Given the description of an element on the screen output the (x, y) to click on. 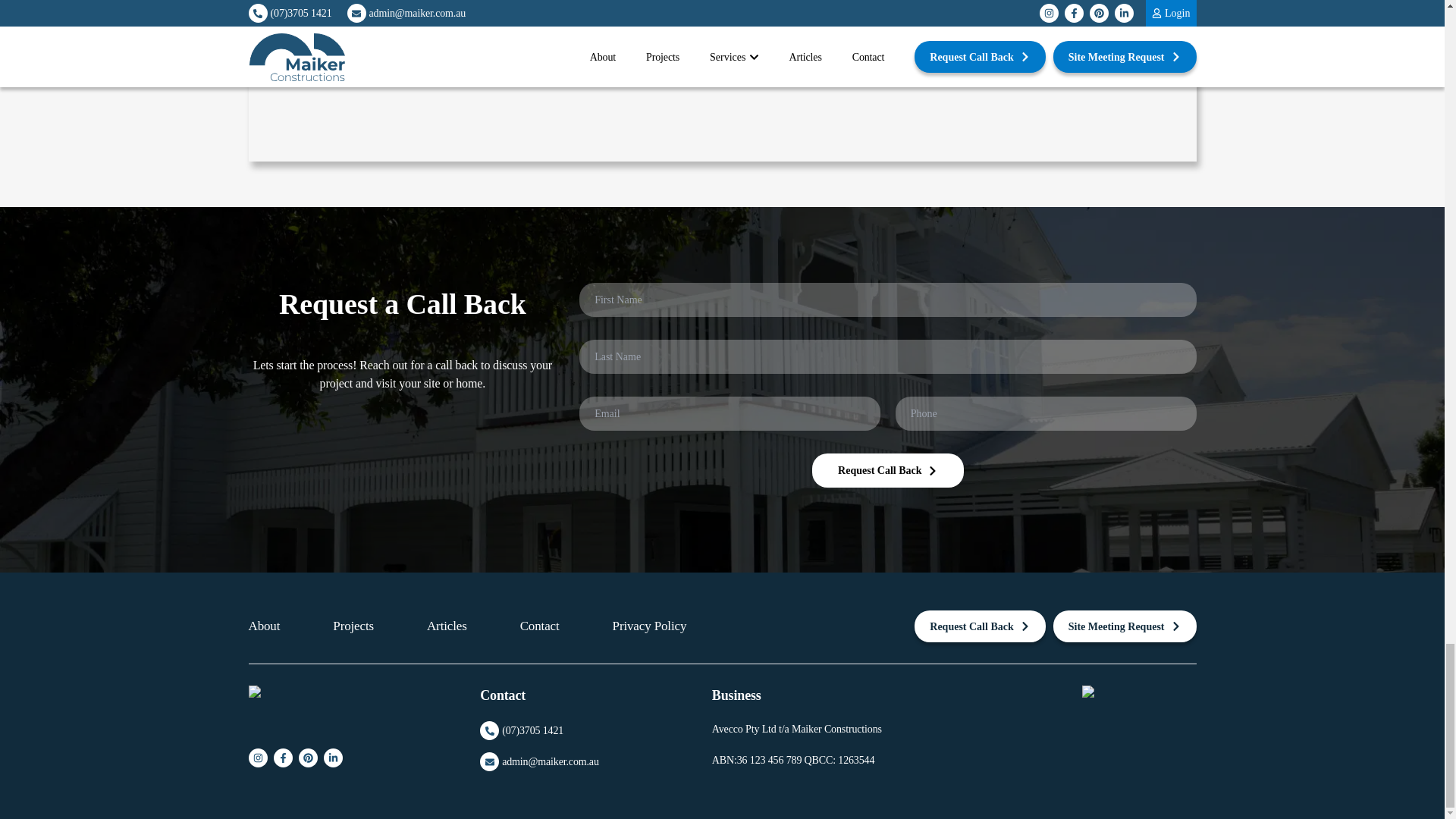
Request Call Back   (887, 470)
